Given the description of an element on the screen output the (x, y) to click on. 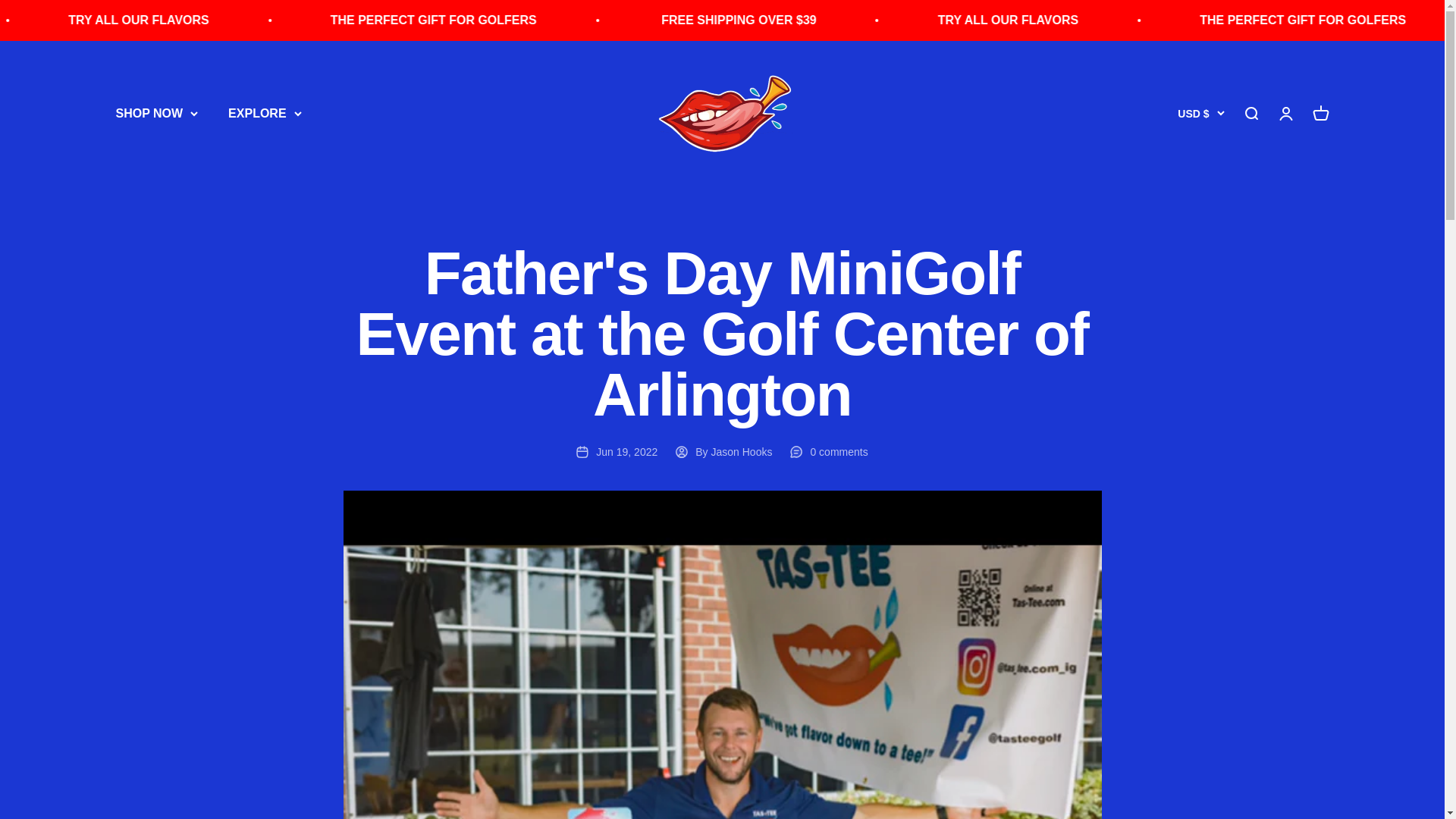
TRY ALL OUR FLAVORS (1342, 19)
THE PERFECT GIFT FOR GOLFERS (772, 19)
THE PERFECT GIFT FOR GOLFERS (7, 19)
TRY ALL OUR FLAVORS (480, 19)
